Given the description of an element on the screen output the (x, y) to click on. 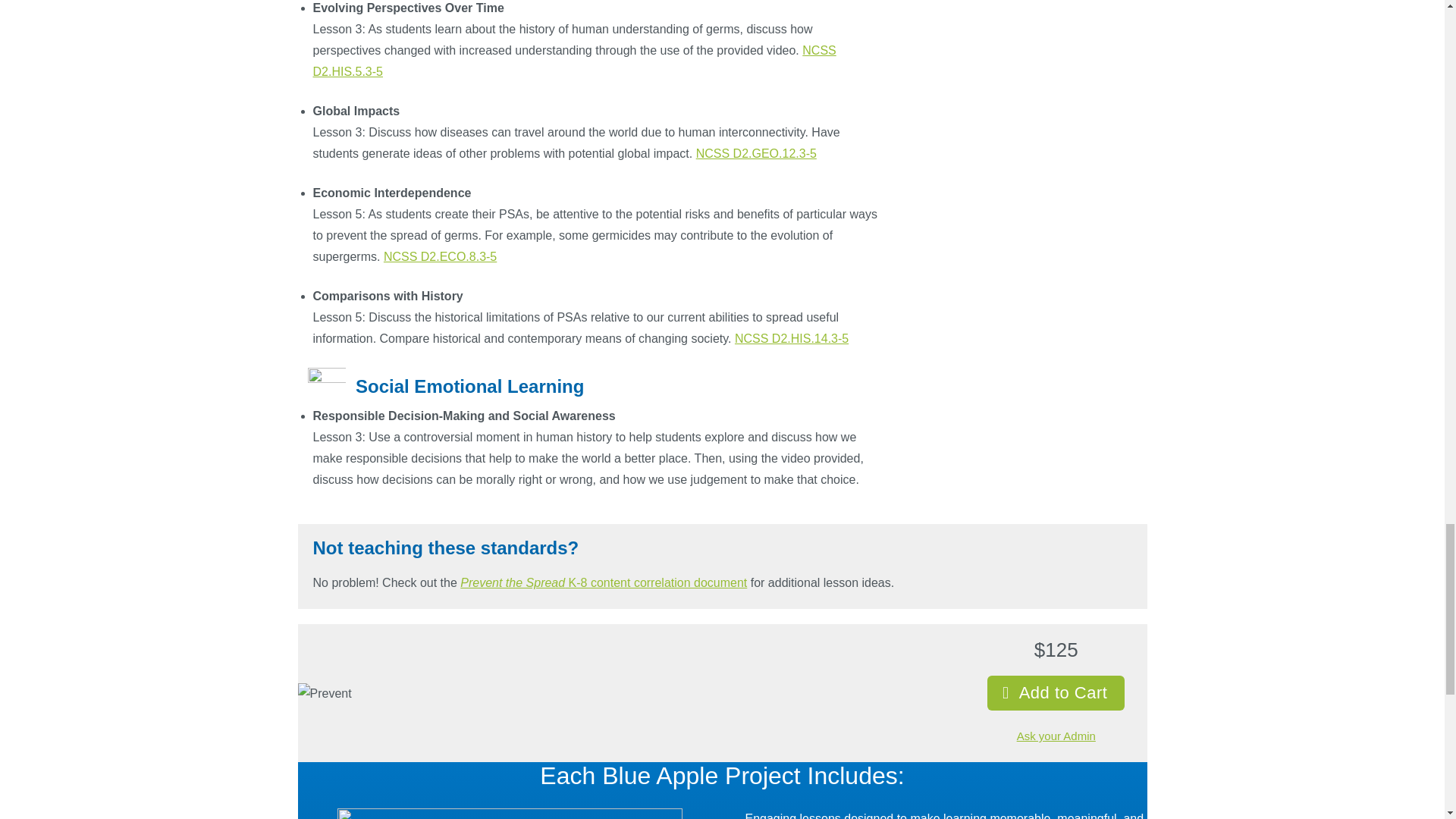
Prevent (323, 693)
